Given the description of an element on the screen output the (x, y) to click on. 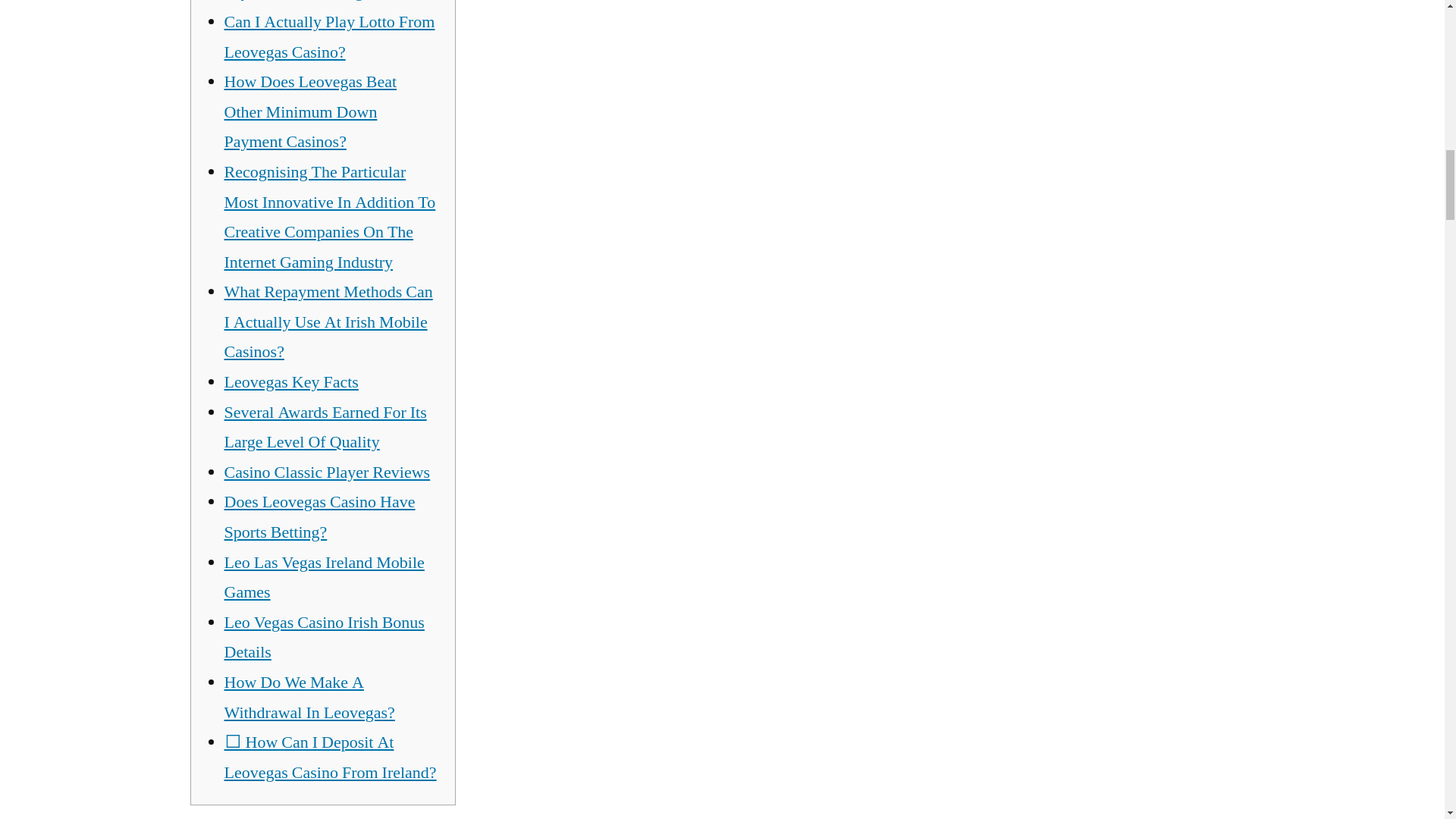
Several Awards Earned For Its Large Level Of Quality (325, 427)
Leovegas Key Facts (291, 382)
Can I Actually Play Lotto From Leovegas Casino? (329, 37)
Casino Classic Player Reviews (327, 472)
Leo Las Vegas Ireland Mobile Games (324, 577)
Does Leovegas Casino Have Sports Betting? (319, 516)
How Does Leovegas Beat Other Minimum Down Payment Casinos? (310, 111)
Payments At Leovegas (300, 1)
